Given the description of an element on the screen output the (x, y) to click on. 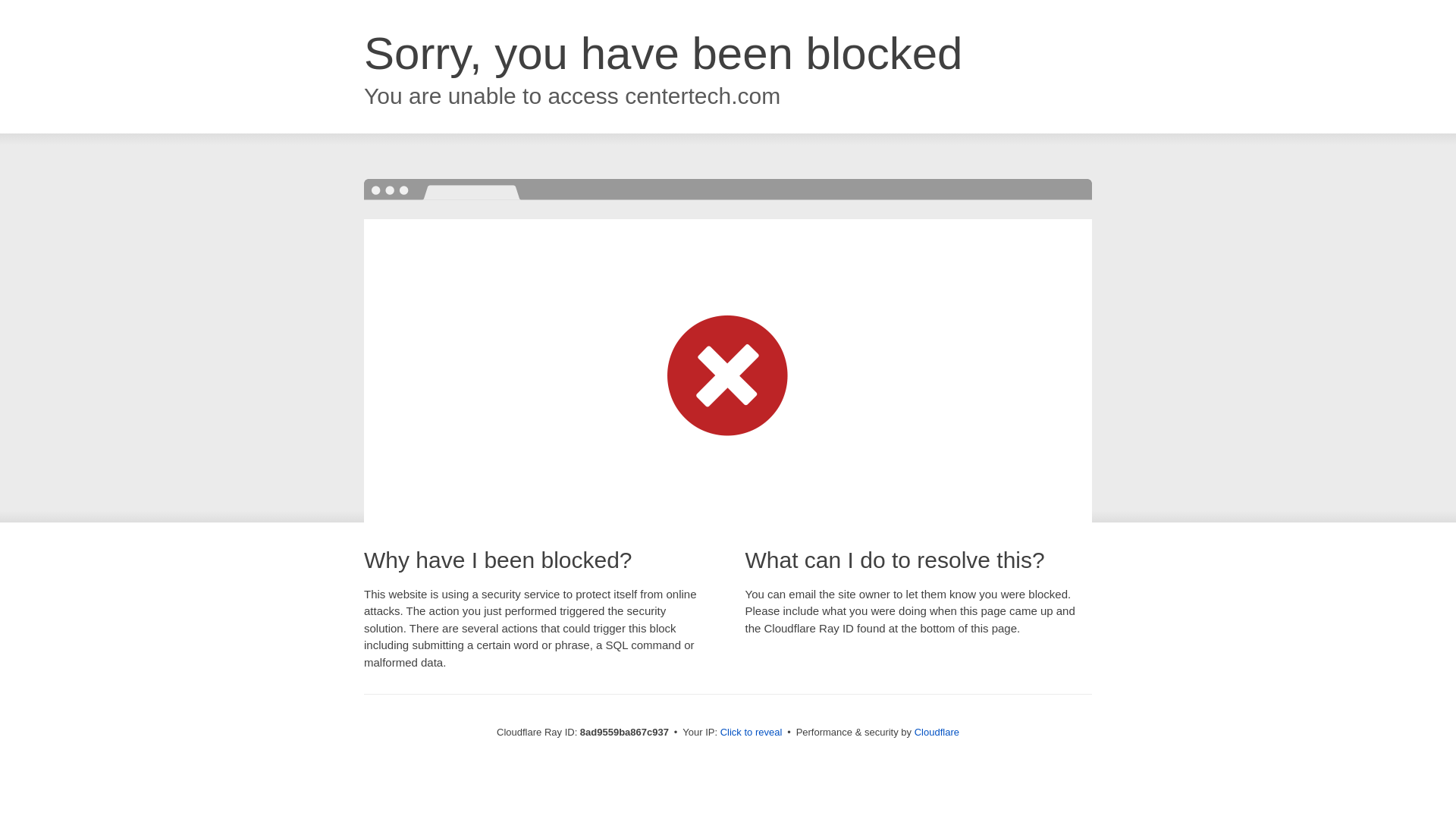
Cloudflare (936, 731)
Click to reveal (751, 732)
